Given the description of an element on the screen output the (x, y) to click on. 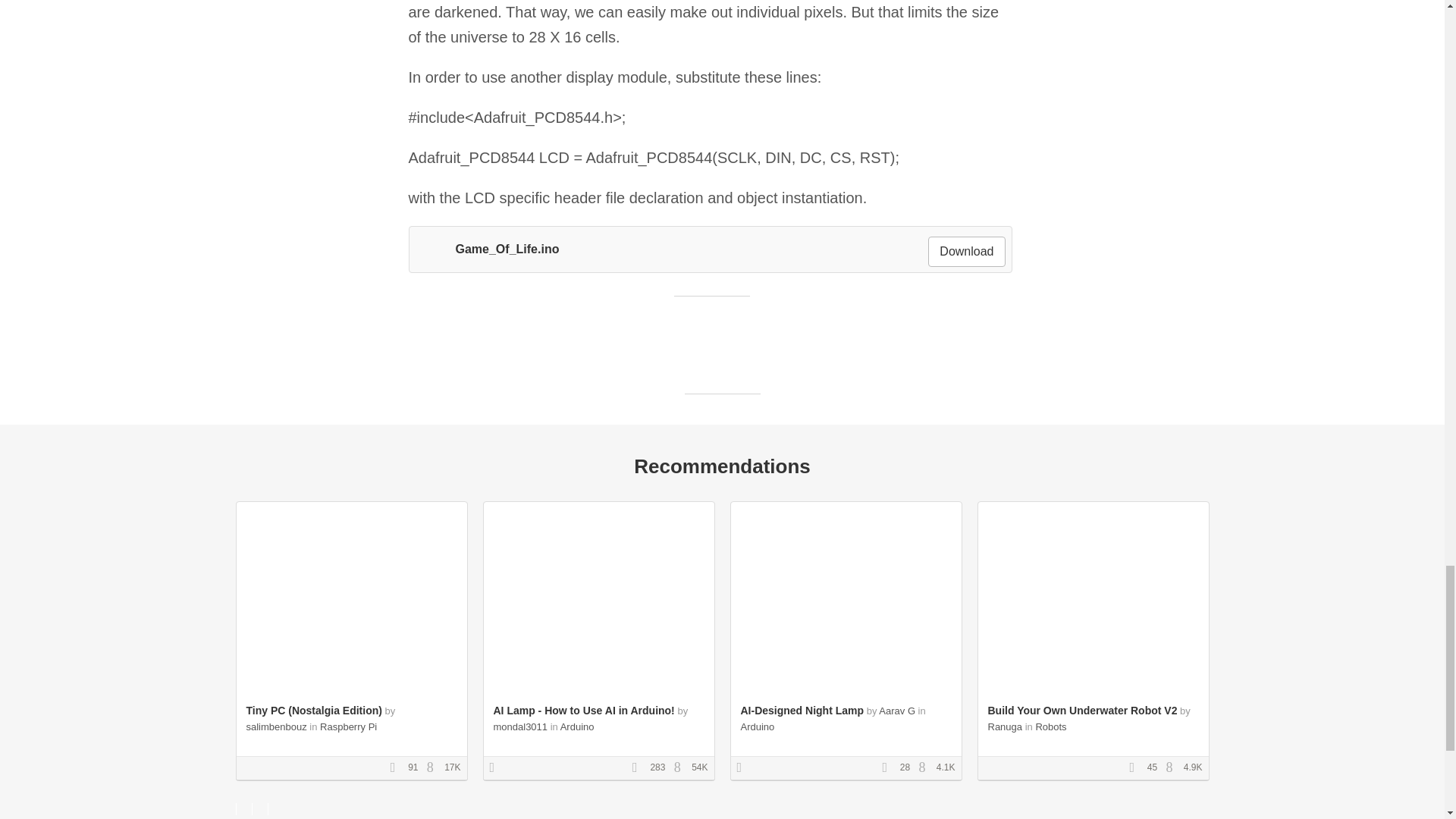
salimbenbouz (275, 726)
Favorites Count (1136, 767)
Favorites Count (398, 767)
AI Lamp - How to Use AI in Arduino! (583, 710)
Views Count (1173, 767)
Contest Winner (497, 767)
Robots (1050, 726)
Contest Winner (744, 767)
Views Count (434, 767)
Arduino (756, 726)
